Given the description of an element on the screen output the (x, y) to click on. 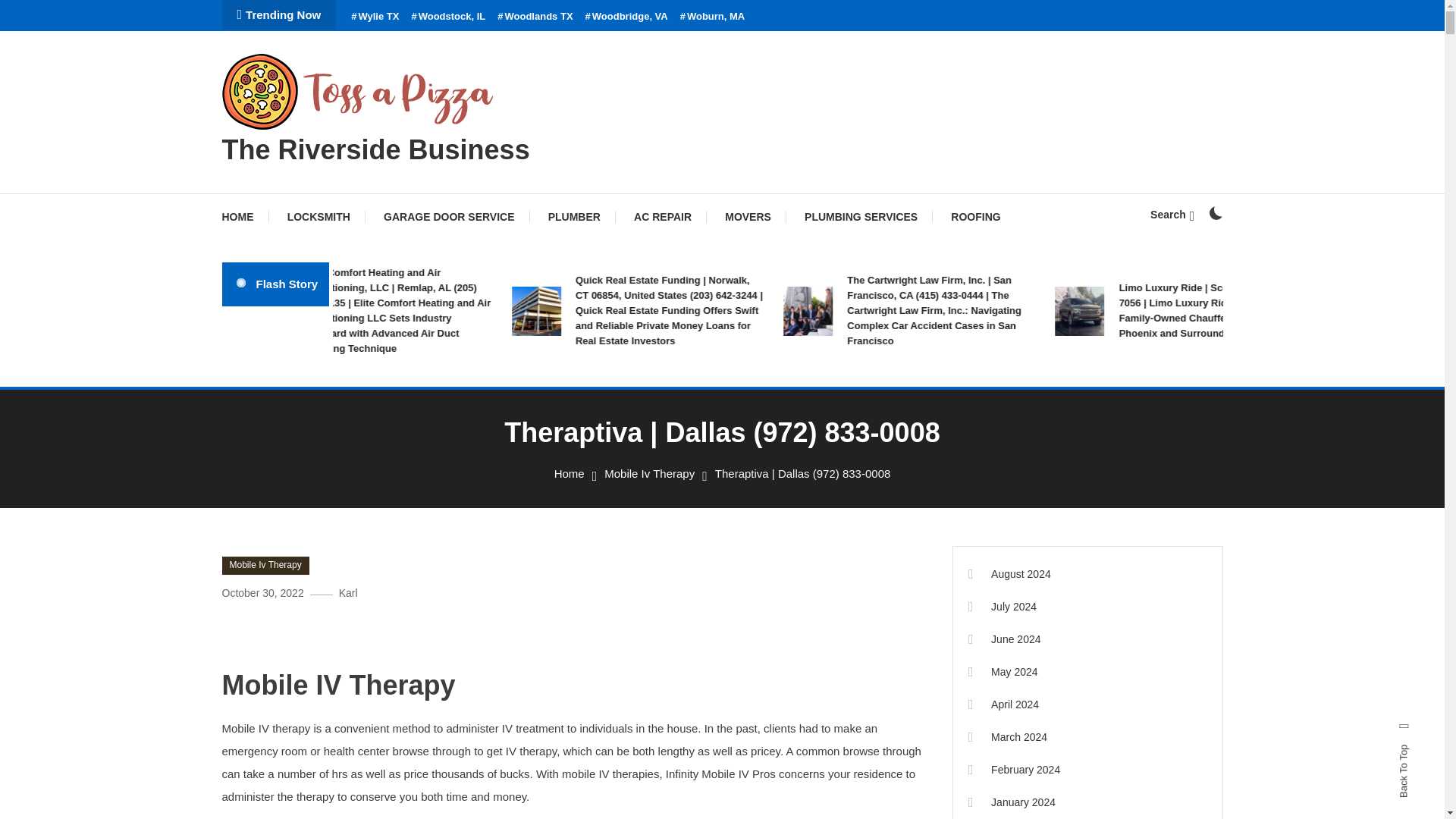
AC REPAIR (662, 216)
Woodstock, IL (447, 16)
Woburn, MA (712, 16)
Woodbridge, VA (626, 16)
ROOFING (975, 216)
PLUMBER (573, 216)
MOVERS (748, 216)
Search (1171, 214)
PLUMBING SERVICES (861, 216)
Mobile Iv Therapy (649, 472)
